Given the description of an element on the screen output the (x, y) to click on. 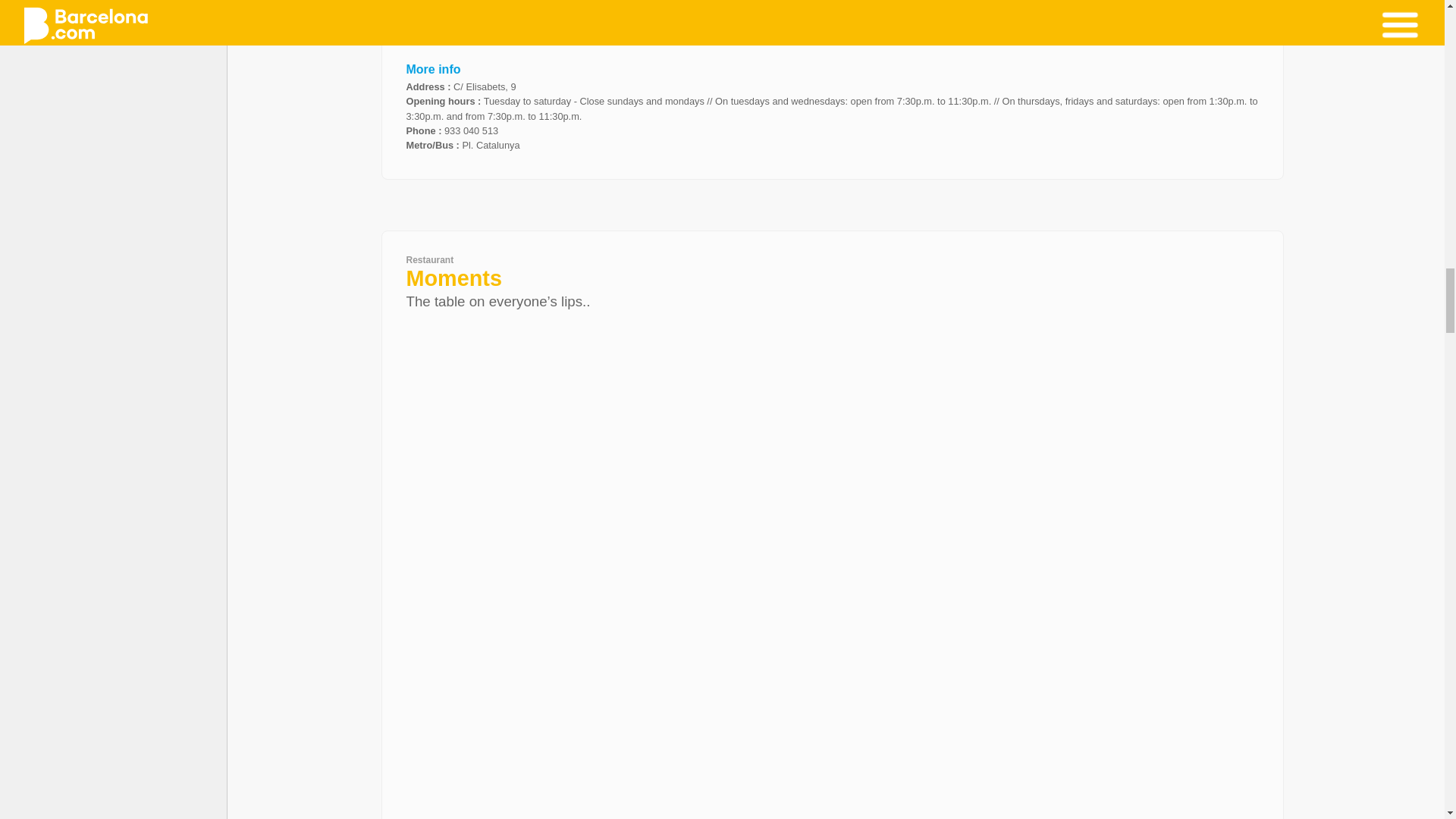
its first Michelin star (676, 37)
More info (433, 69)
Moments (454, 278)
